Given the description of an element on the screen output the (x, y) to click on. 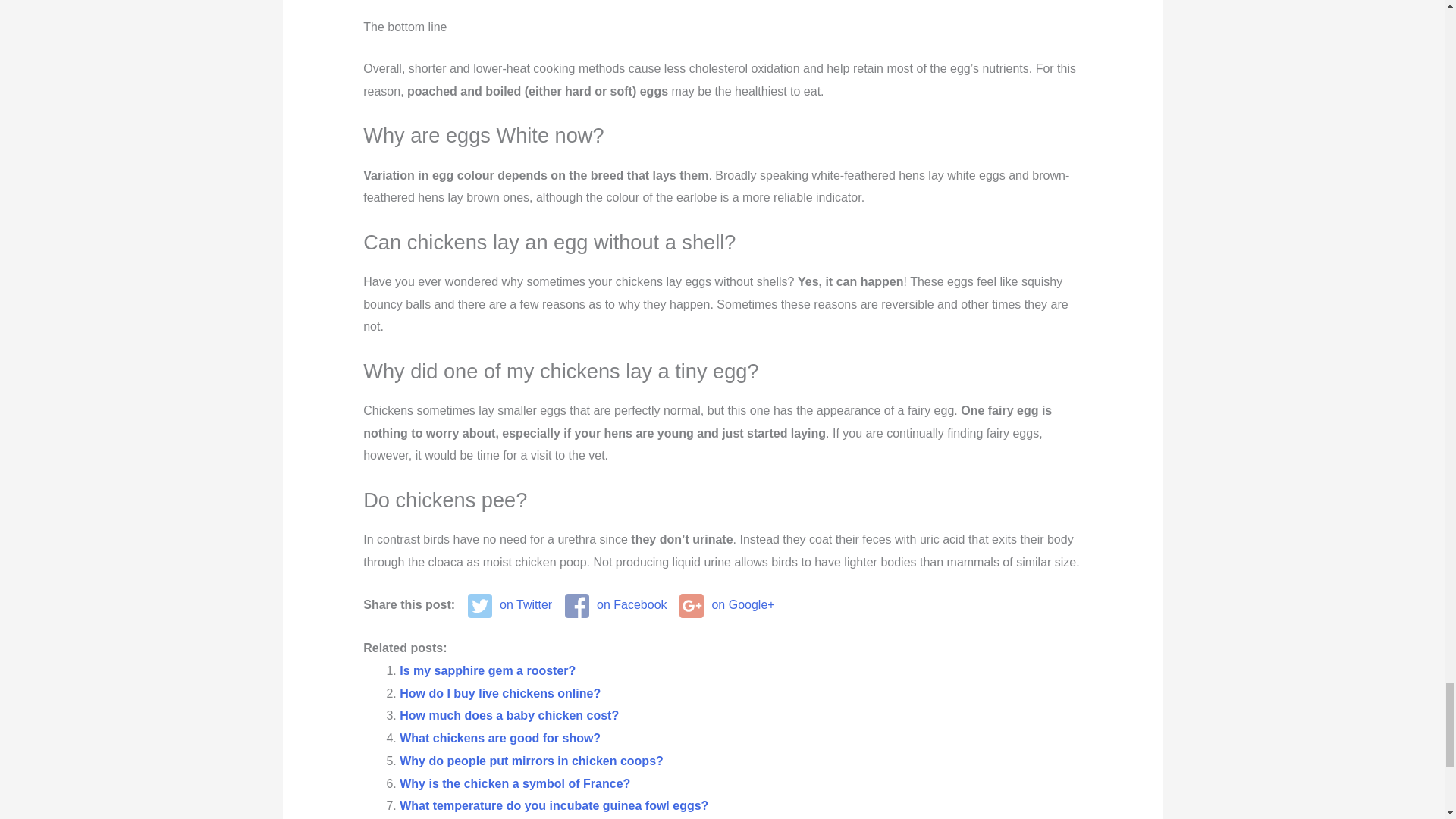
Is my sapphire gem a rooster? (486, 670)
Why do people put mirrors in chicken coops? (530, 760)
What chickens are good for show? (498, 738)
What temperature do you incubate guinea fowl eggs? (552, 805)
Why is the chicken a symbol of France? (514, 783)
How do I buy live chickens online? (498, 693)
How do I buy live chickens online? (498, 693)
Why do people put mirrors in chicken coops? (530, 760)
What chickens are good for show? (498, 738)
on Facebook (615, 605)
